Given the description of an element on the screen output the (x, y) to click on. 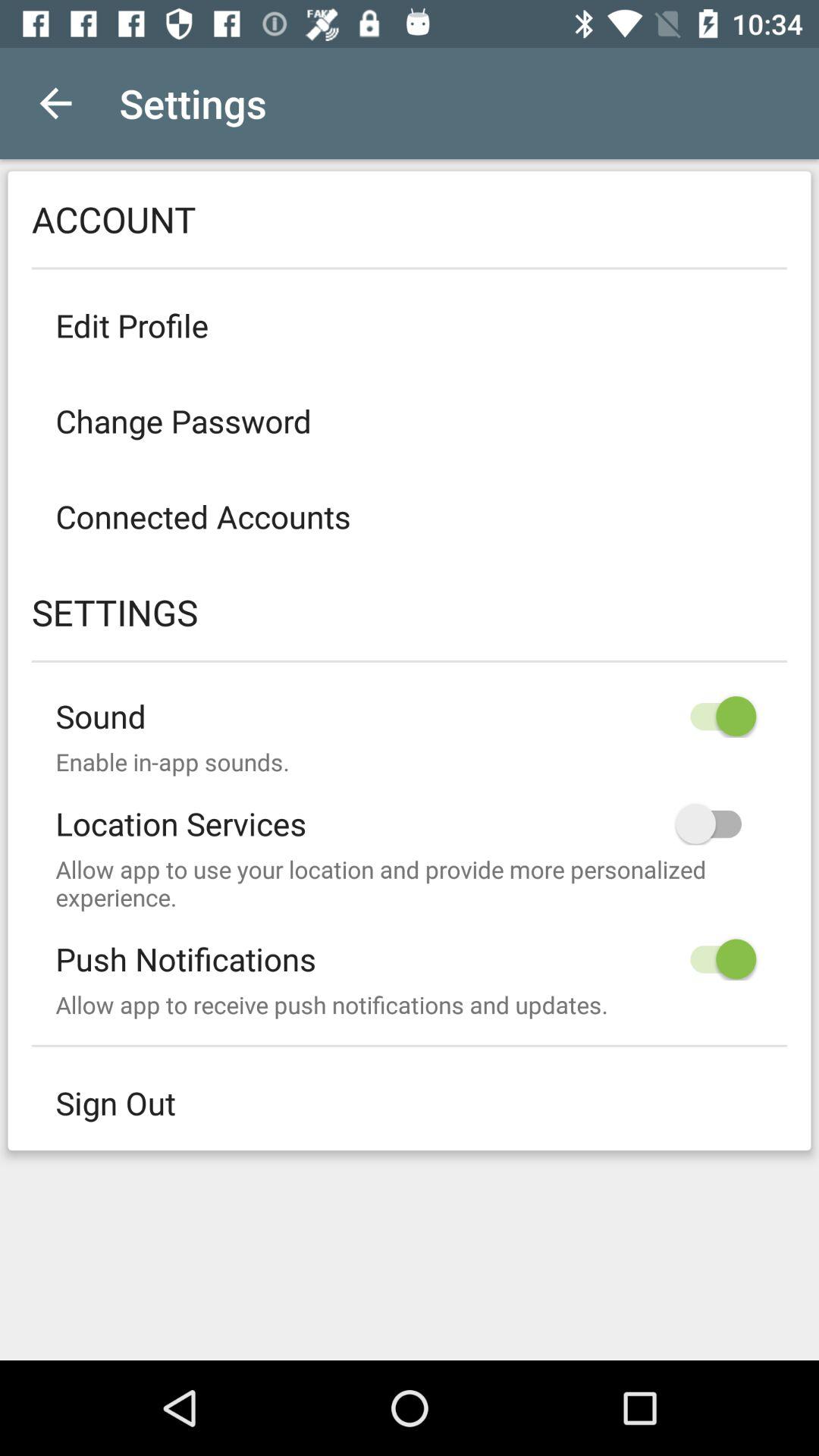
select item above the allow app to item (409, 811)
